Given the description of an element on the screen output the (x, y) to click on. 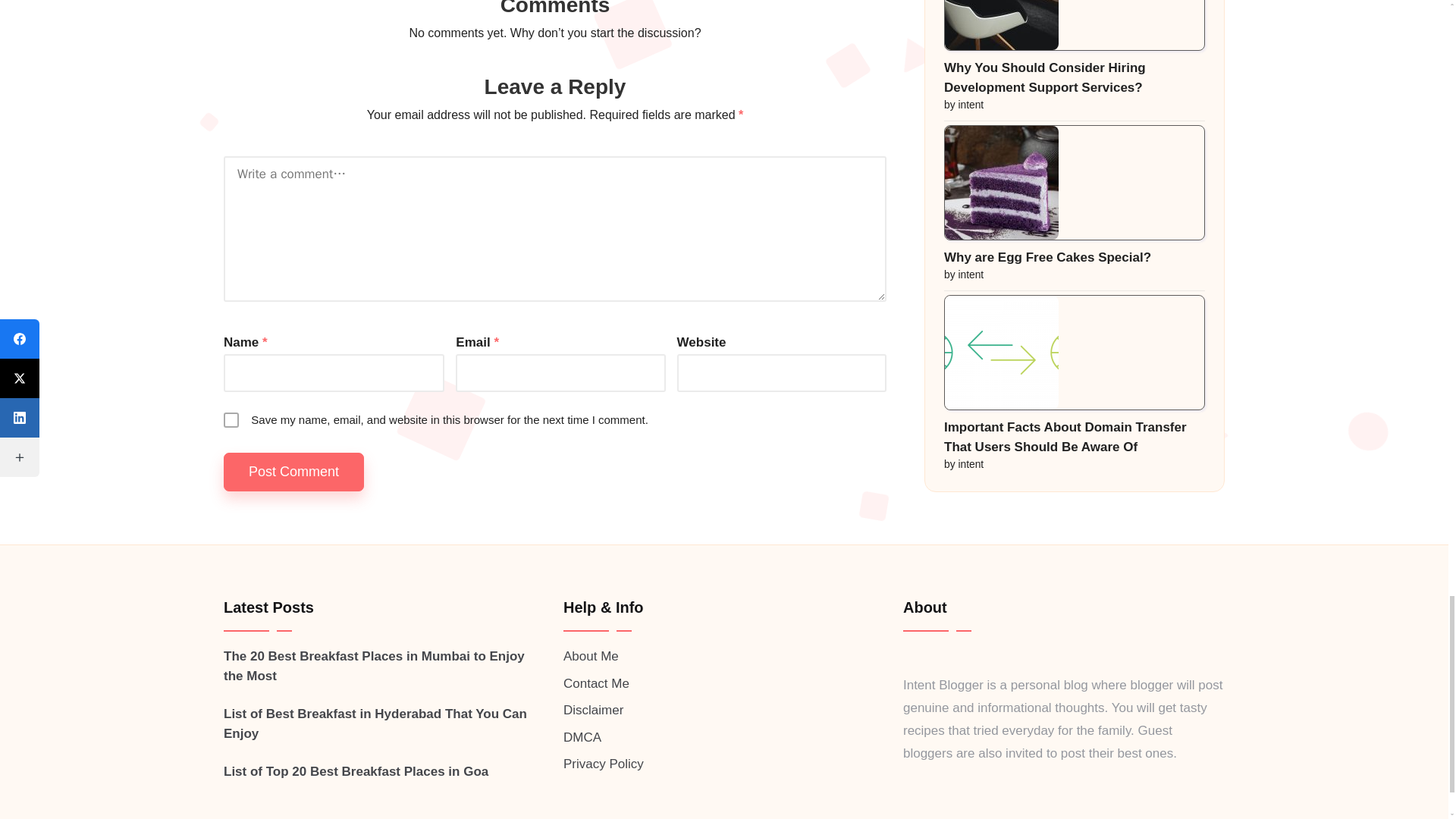
yes (231, 419)
Post Comment (294, 471)
